Given the description of an element on the screen output the (x, y) to click on. 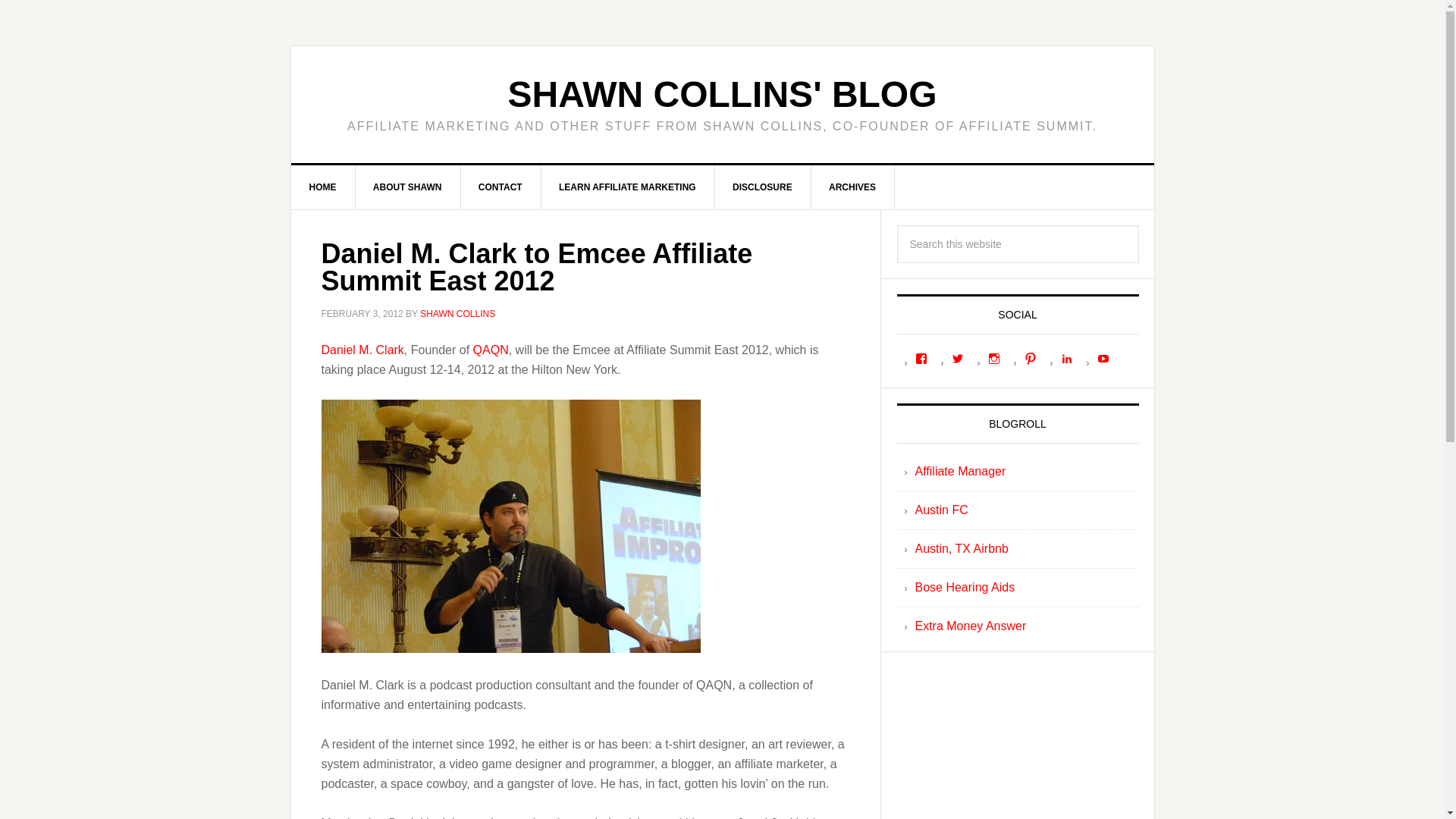
SHAWN COLLINS' BLOG (721, 94)
ABOUT SHAWN (408, 187)
Austin FC (941, 509)
Bose Hearing Aids (964, 586)
SHAWN COLLINS (457, 313)
Extra Money Answer (970, 625)
HOME (323, 187)
DISCLOSURE (762, 187)
ARCHIVES (852, 187)
CONTACT (500, 187)
Daniel M. Clark (362, 349)
